Given the description of an element on the screen output the (x, y) to click on. 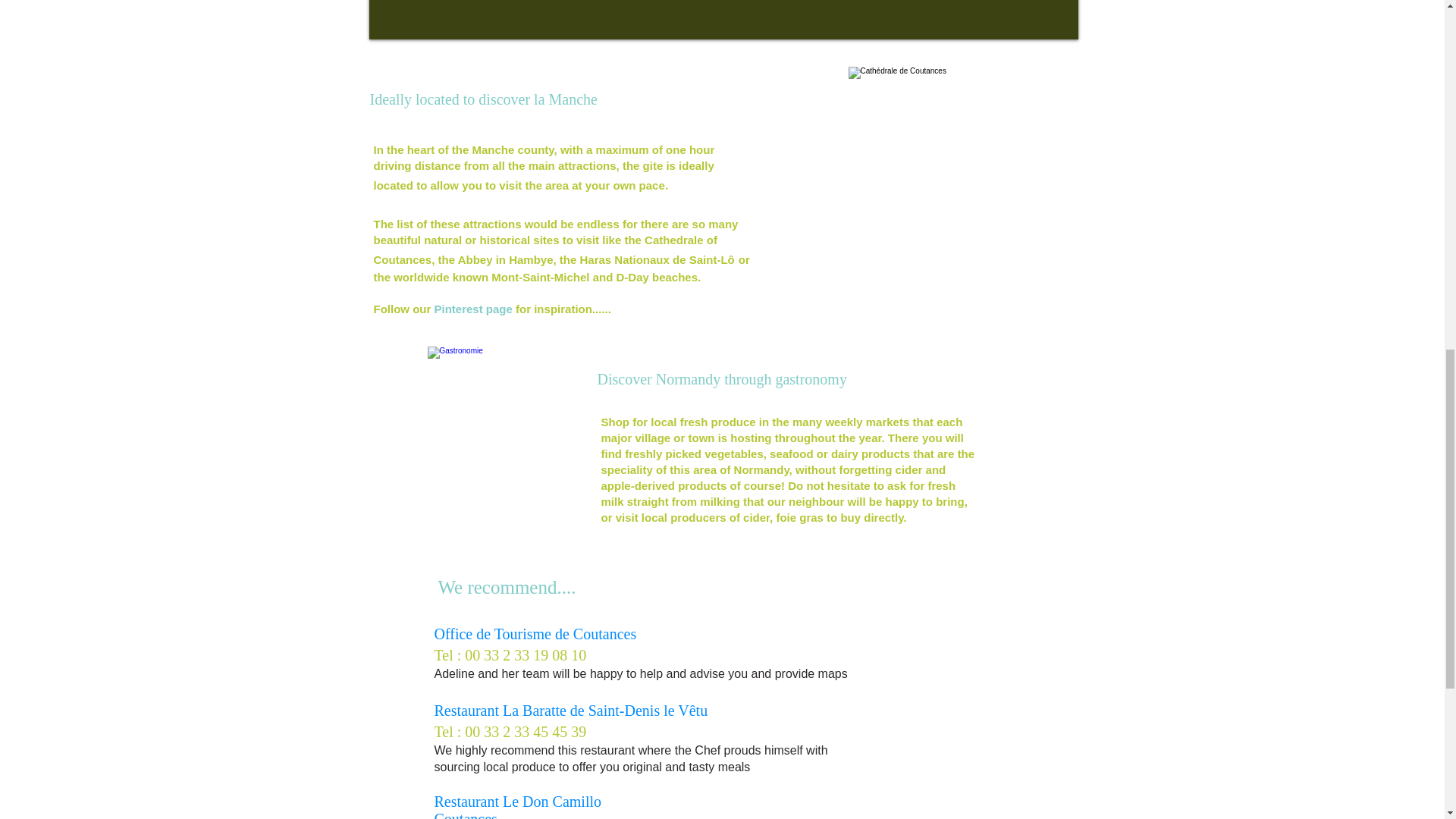
Pinterest page (472, 308)
